Given the description of an element on the screen output the (x, y) to click on. 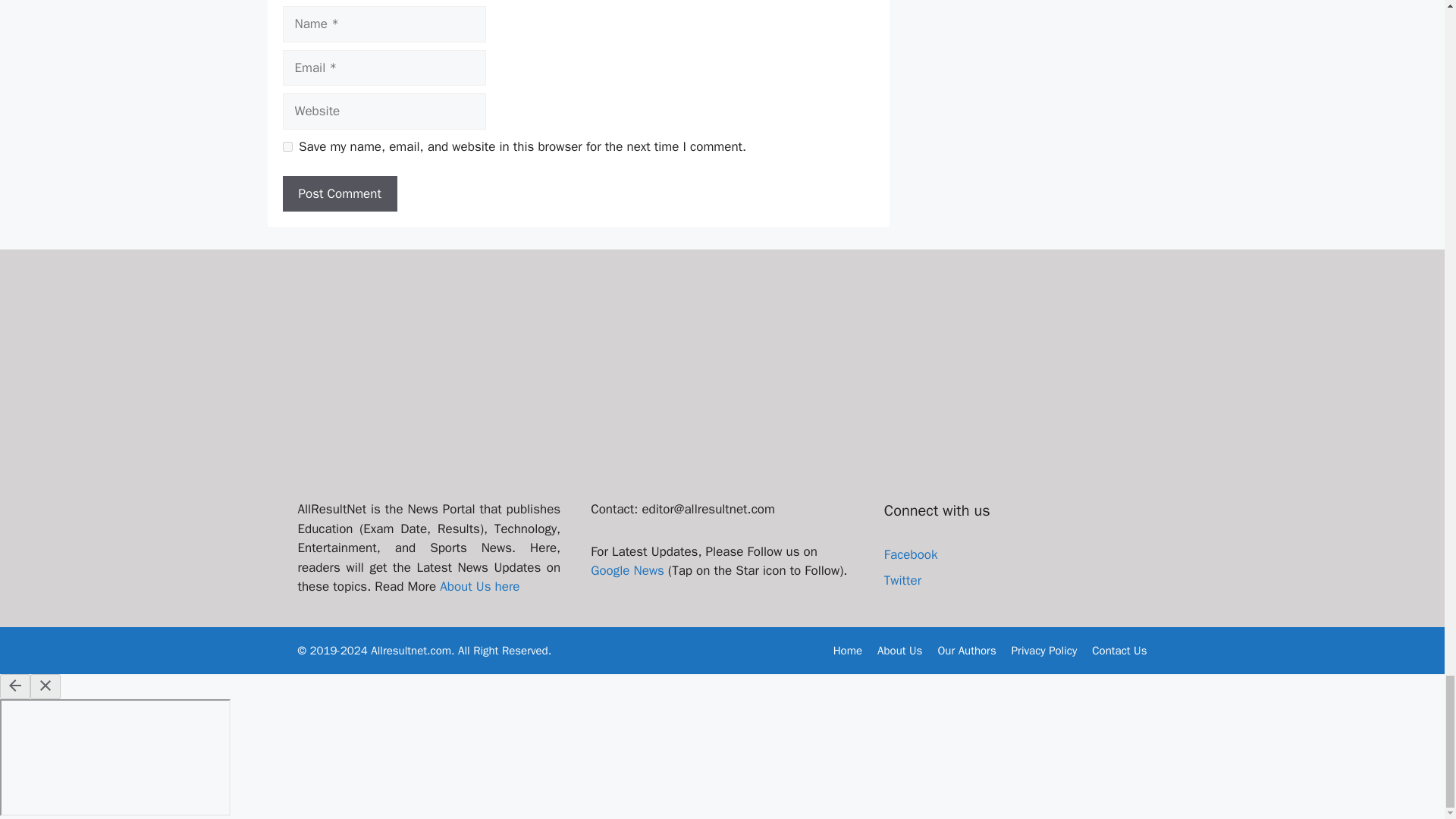
Post Comment (339, 194)
Post Comment (339, 194)
yes (287, 146)
